Given the description of an element on the screen output the (x, y) to click on. 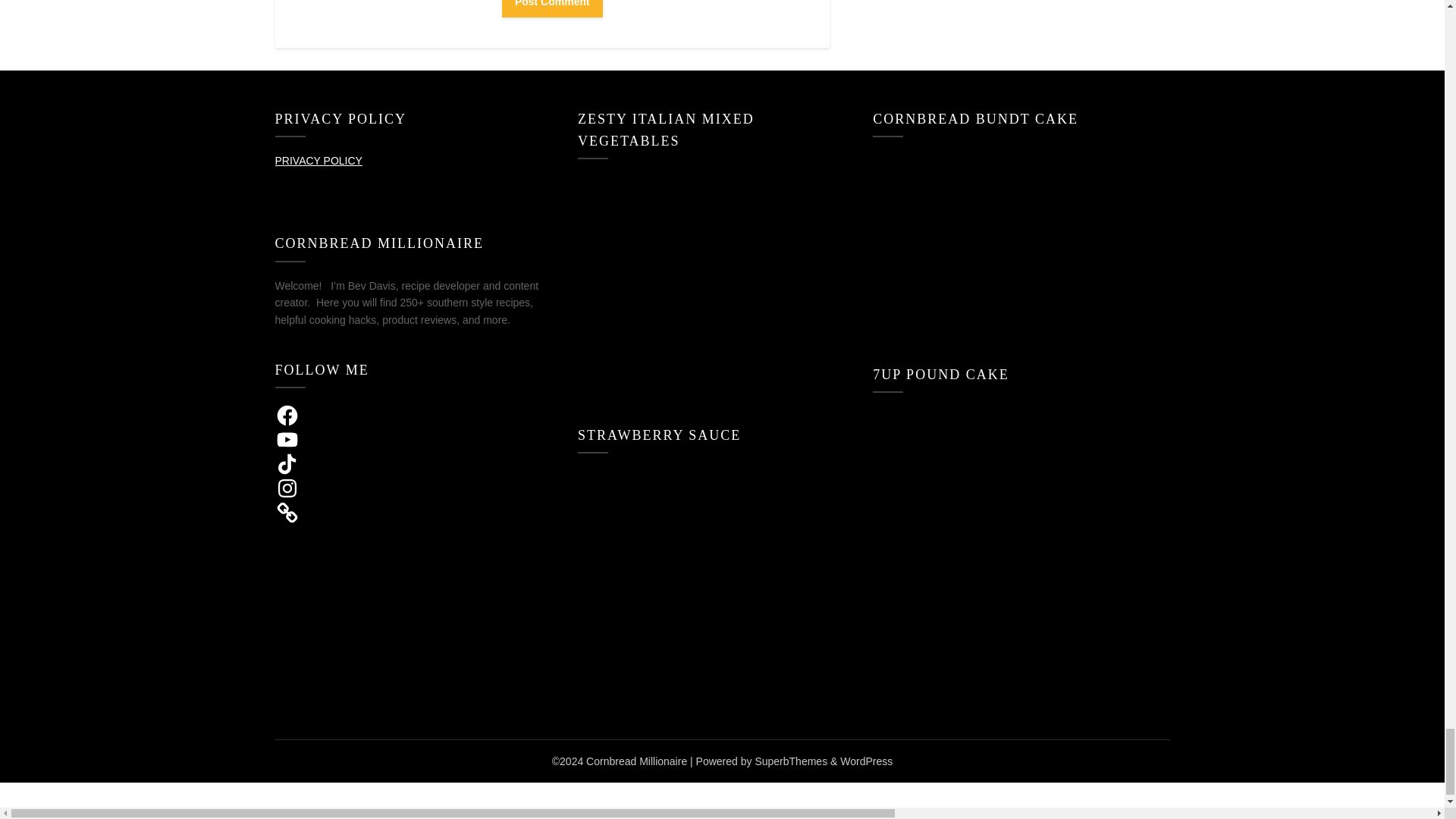
PRIVACY POLICY (318, 160)
YouTube (286, 439)
Post Comment (552, 8)
Post Comment (552, 8)
Facebook (286, 415)
TikTok (286, 463)
Verified by MonsterInsights (722, 797)
